Given the description of an element on the screen output the (x, y) to click on. 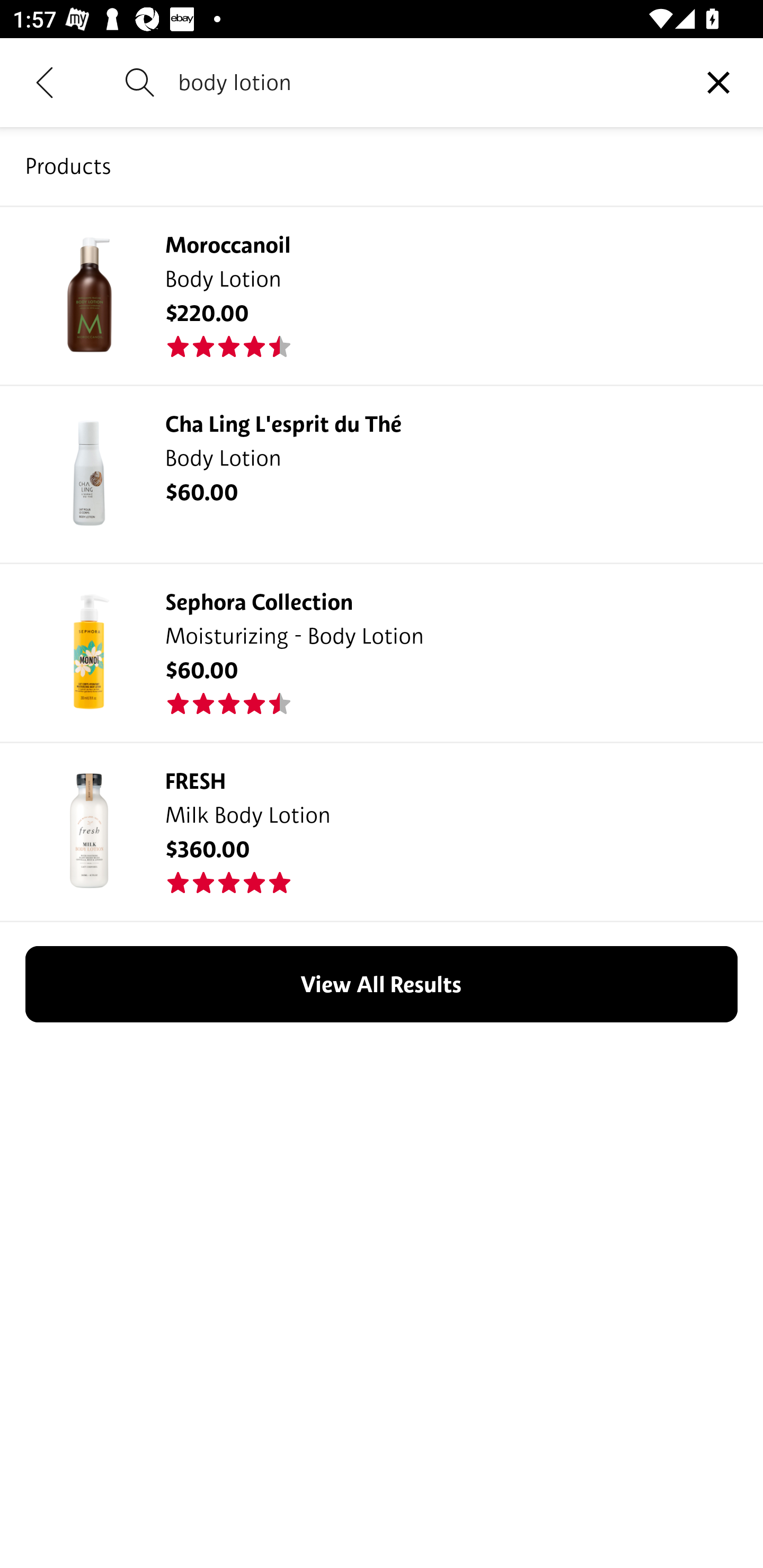
Navigate up (44, 82)
Clear query (718, 81)
body lotion (425, 82)
Product Image Moroccanoil Body Lotion $220.00 (381, 294)
Product Image FRESH Milk Body Lotion $360.00 (381, 830)
View All Results (381, 983)
